Given the description of an element on the screen output the (x, y) to click on. 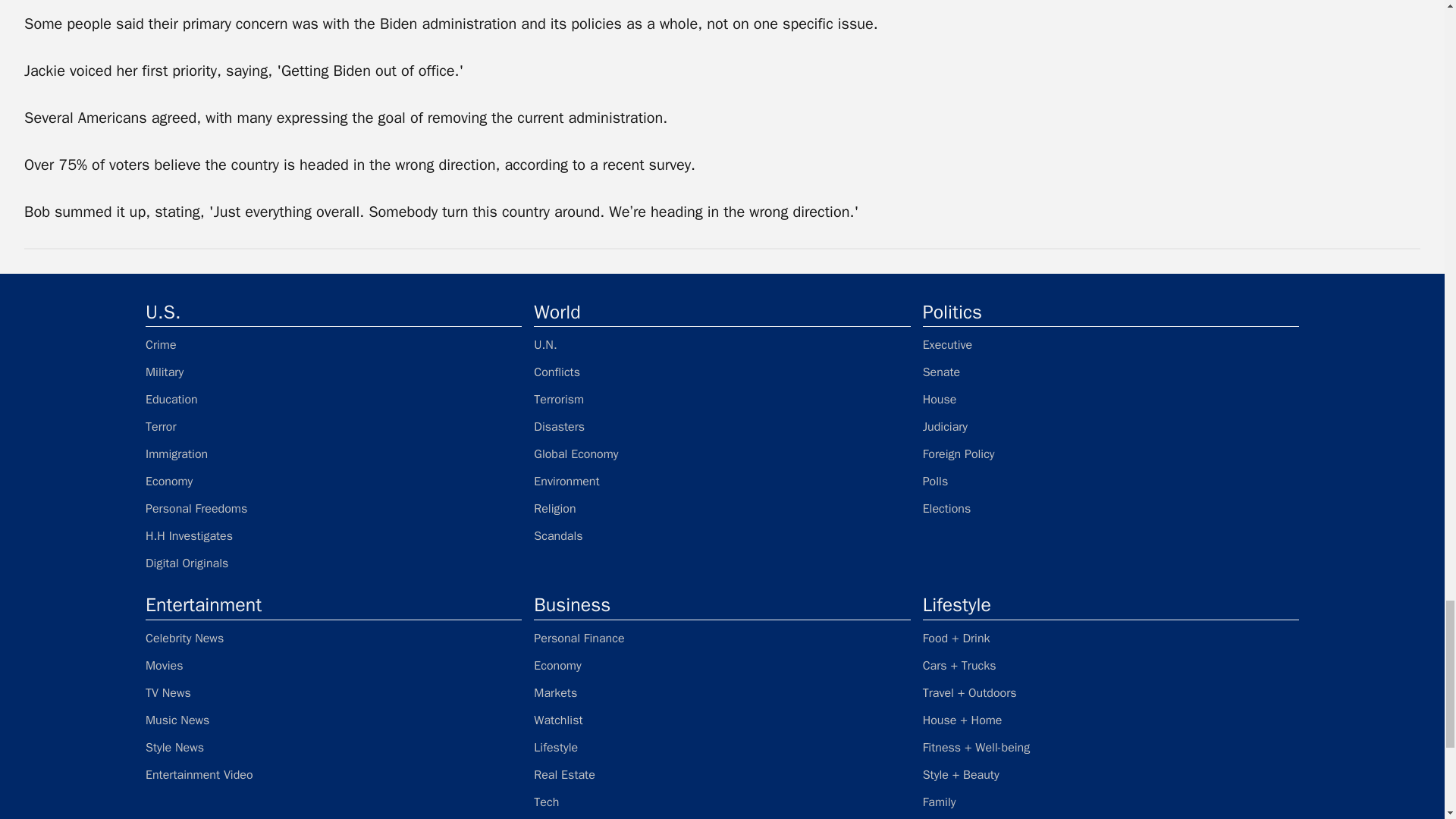
Terror (333, 426)
Scandals (722, 535)
Politics (1110, 312)
Global Economy (722, 454)
Immigration (333, 454)
Education (333, 399)
Digital Originals (333, 563)
Conflicts (722, 372)
Crime (333, 344)
Terrorism (722, 399)
